Given the description of an element on the screen output the (x, y) to click on. 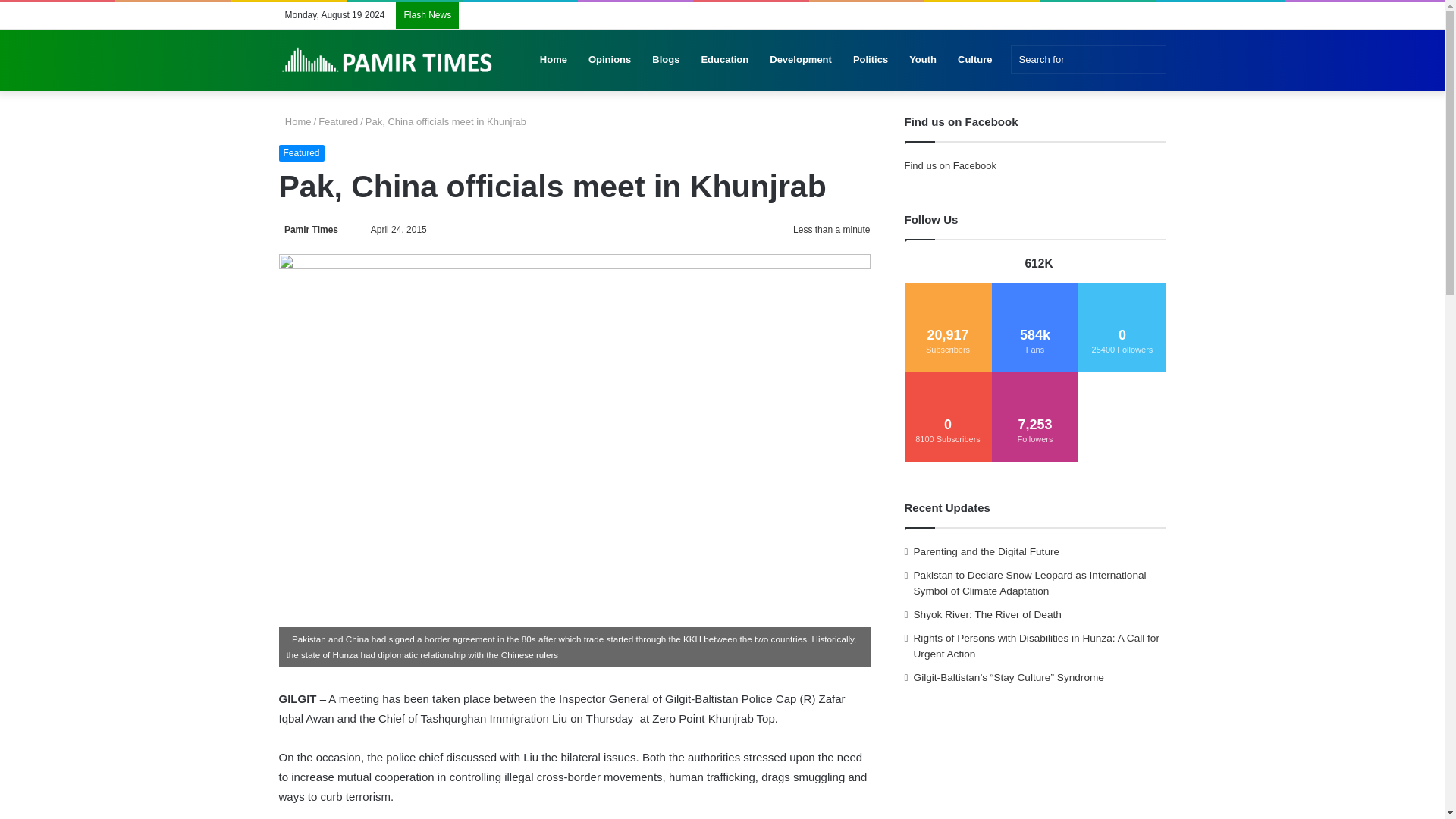
Culture (975, 59)
Opinions (610, 59)
Education (724, 59)
PAMIR TIMES (387, 60)
Development (800, 59)
Home (295, 121)
Pamir Times (309, 229)
Search for (1088, 59)
Featured (301, 152)
Politics (870, 59)
